Given the description of an element on the screen output the (x, y) to click on. 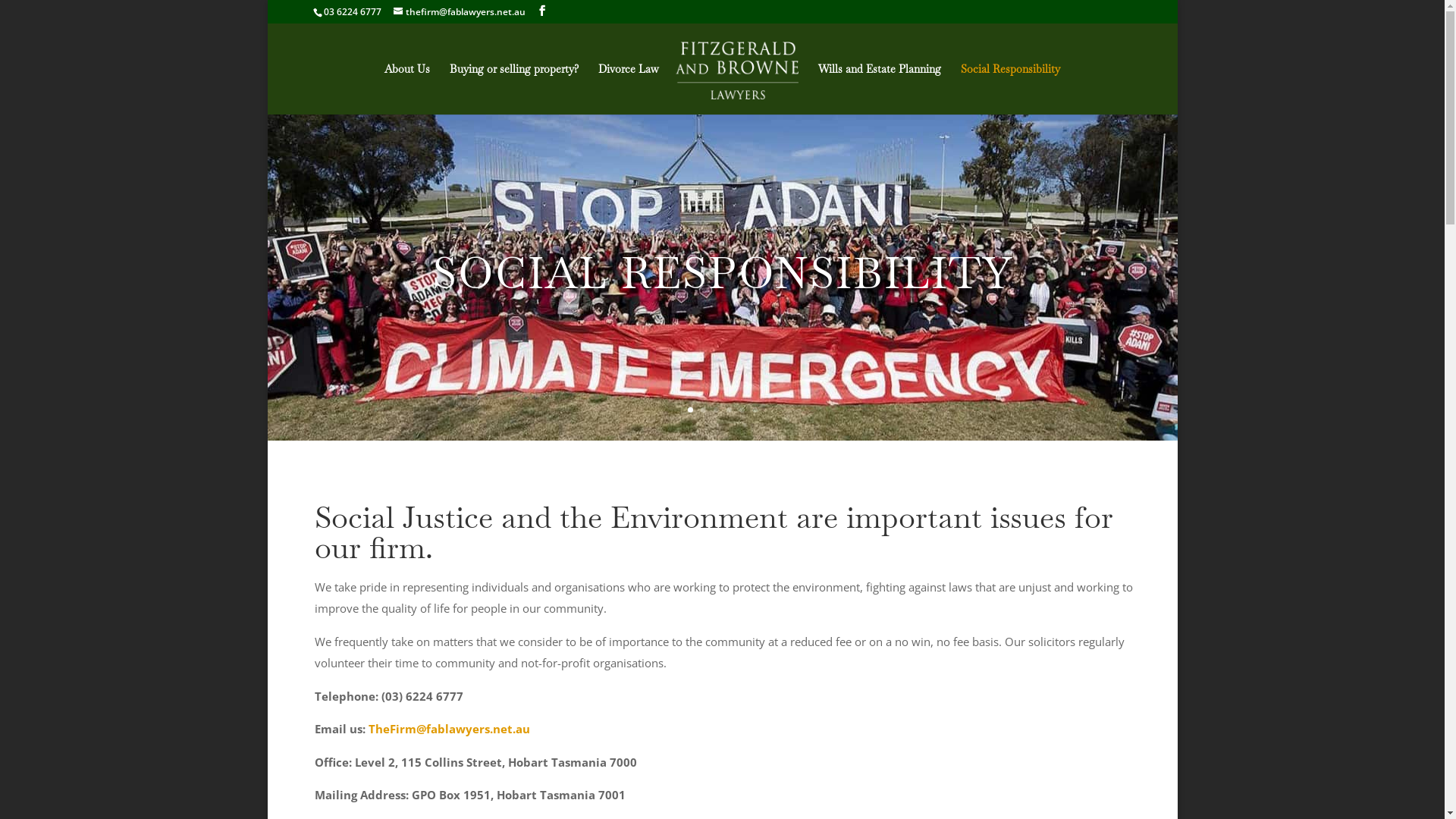
TheFirm@fablawyers.net.au Element type: text (449, 728)
thefirm@fablawyers.net.au Element type: text (458, 11)
Buying or selling property? Element type: text (513, 88)
Divorce Law Element type: text (628, 88)
4 Element type: text (728, 409)
2 Element type: text (703, 409)
6 Element type: text (754, 409)
3 Element type: text (715, 409)
Wills and Estate Planning Element type: text (879, 88)
1 Element type: text (689, 409)
About Us Element type: text (406, 88)
5 Element type: text (740, 409)
Social Responsibility Element type: text (1010, 88)
